Given the description of an element on the screen output the (x, y) to click on. 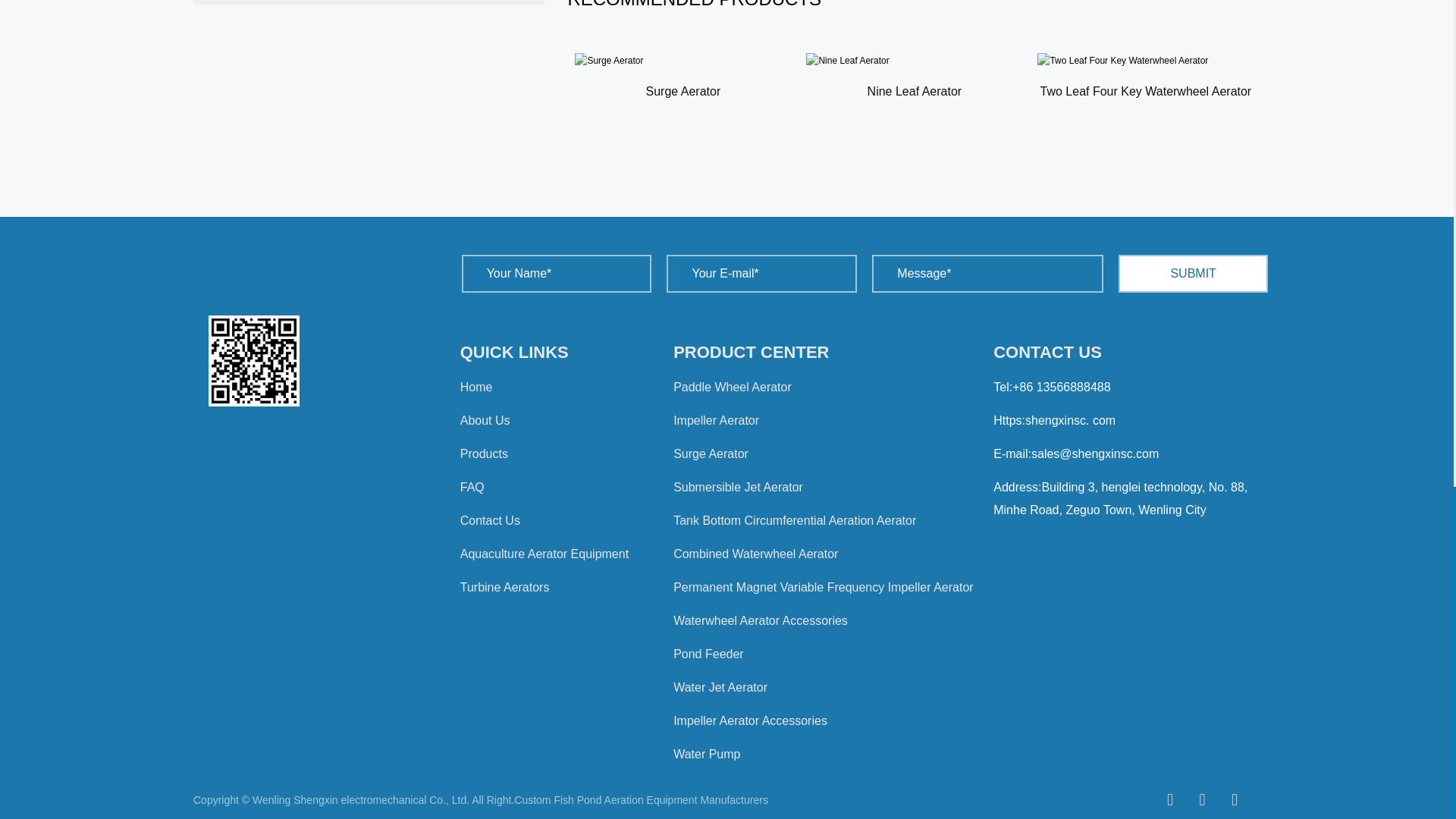
Submit (1193, 273)
